Given the description of an element on the screen output the (x, y) to click on. 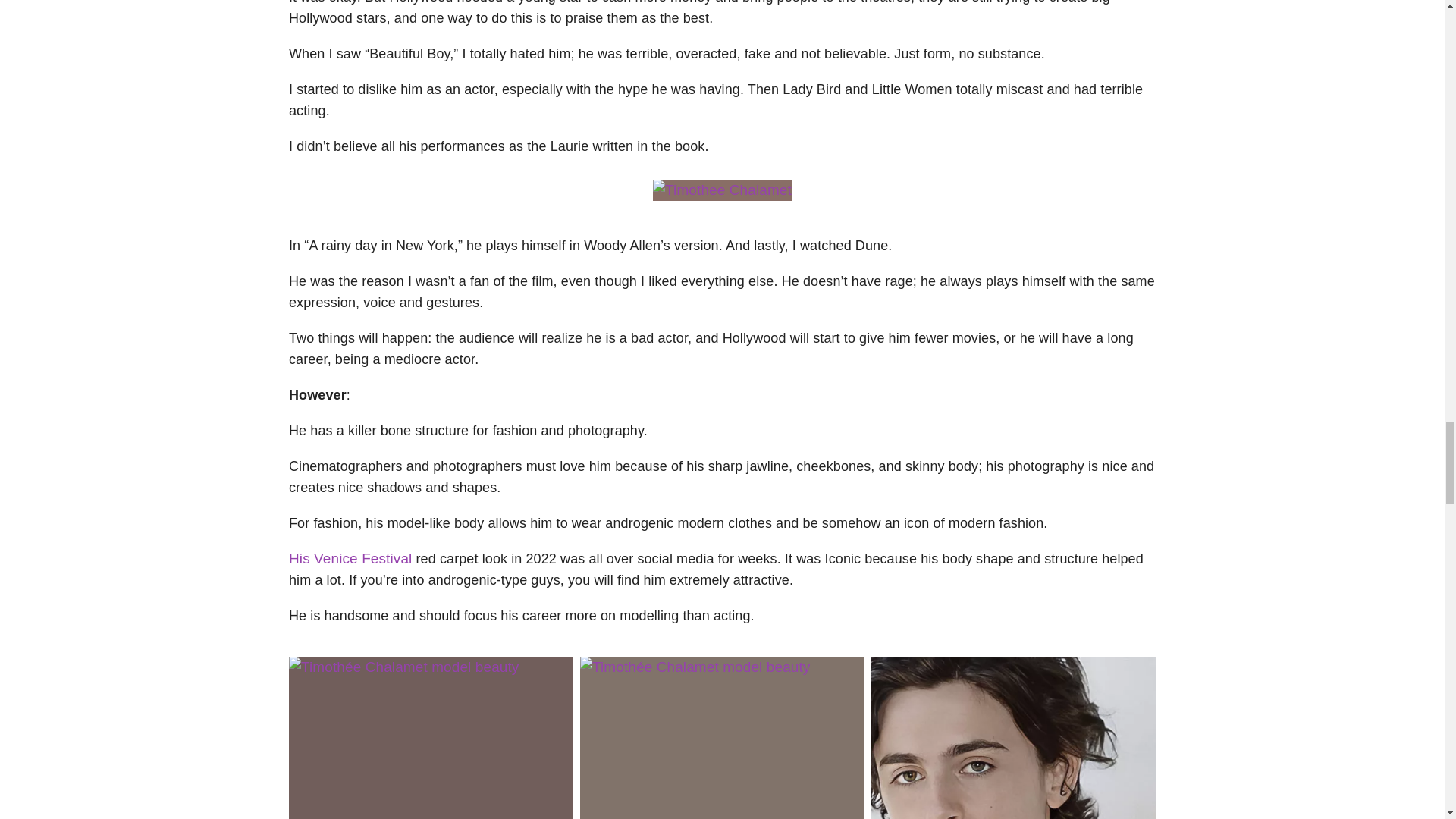
His Venice Festival (350, 558)
